Given the description of an element on the screen output the (x, y) to click on. 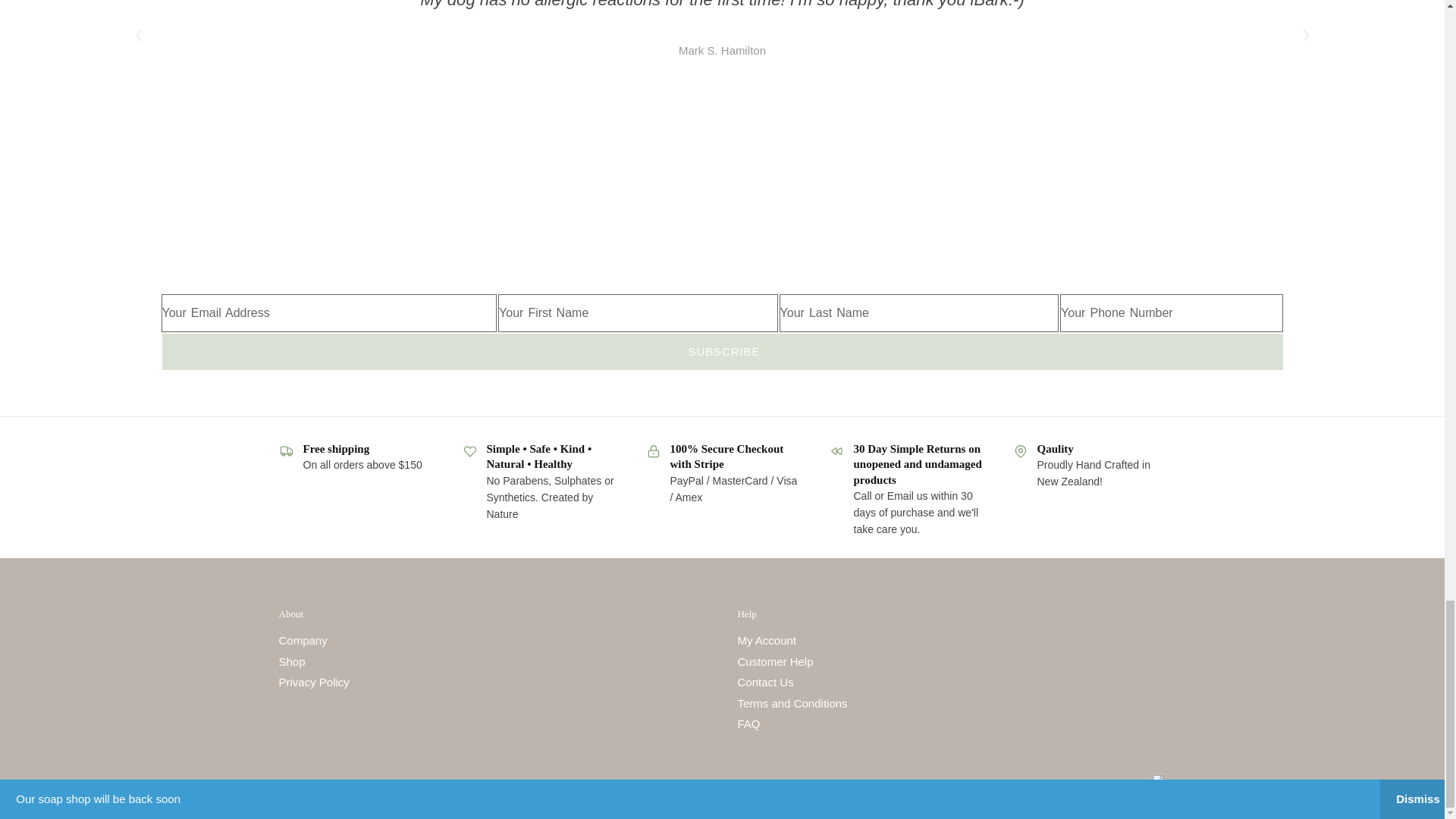
Shop (292, 661)
Company (303, 640)
SUBSCRIBE (721, 351)
